Given the description of an element on the screen output the (x, y) to click on. 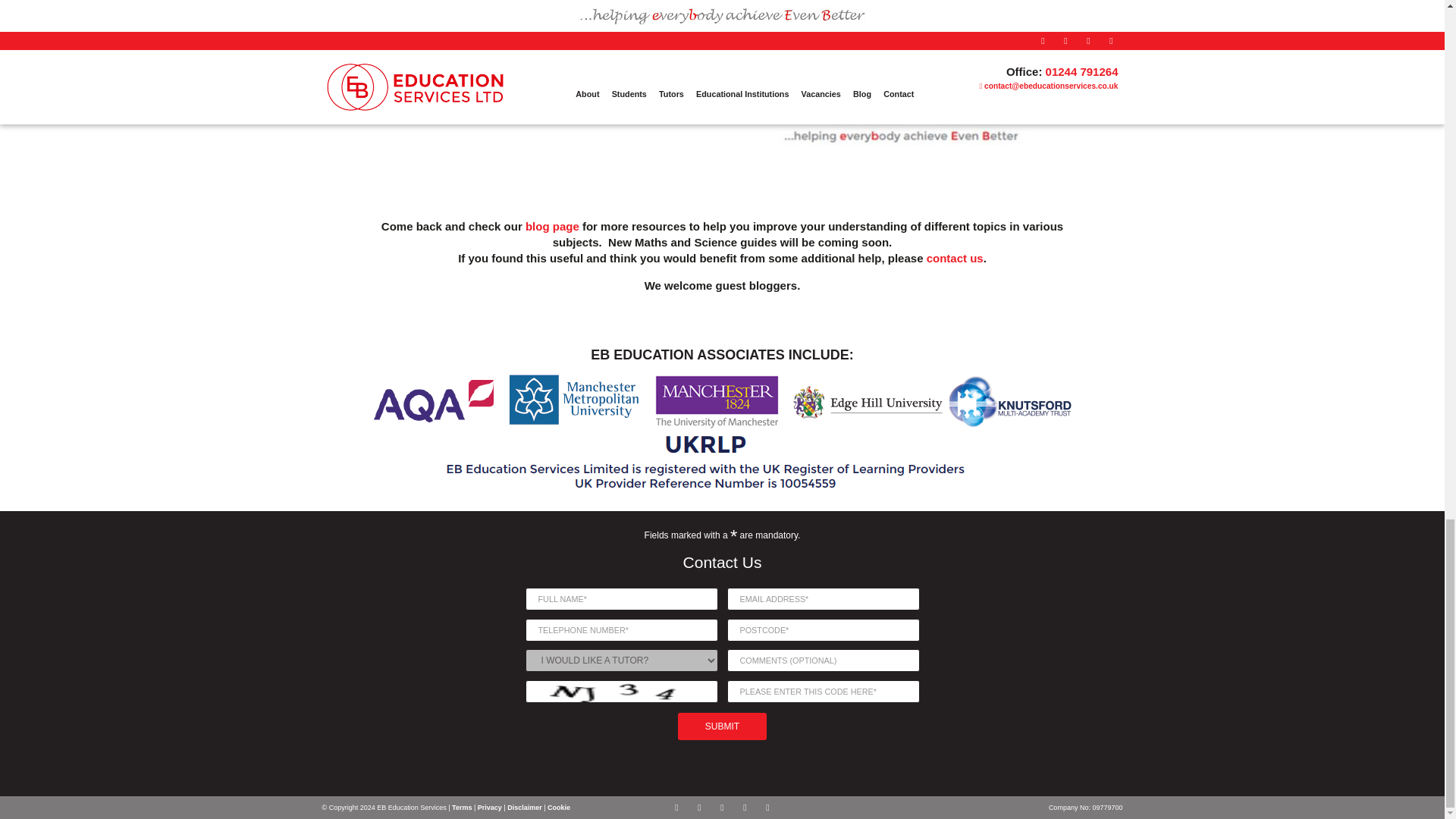
SUBMIT (722, 726)
